Given the description of an element on the screen output the (x, y) to click on. 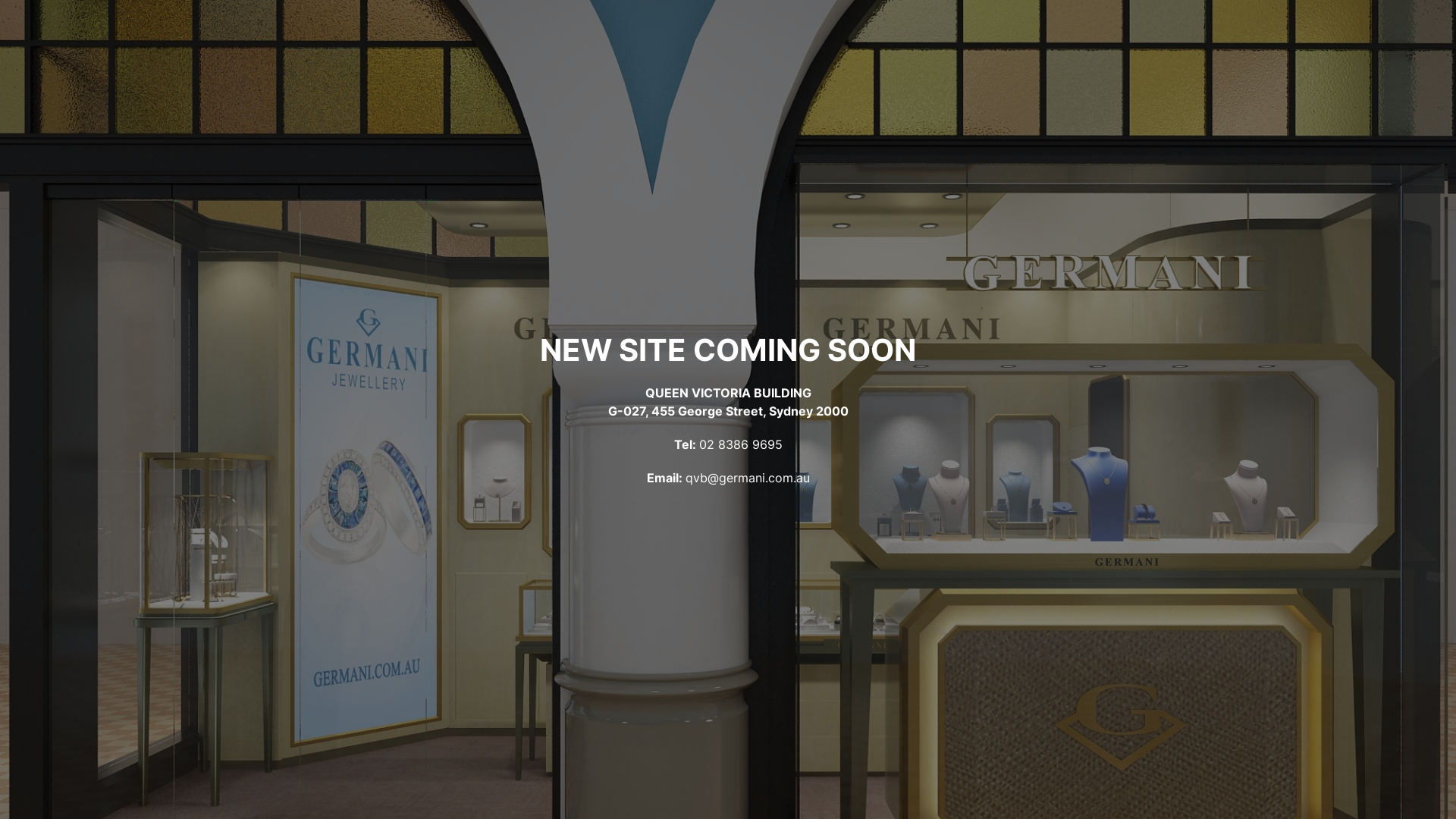
02 8386 9695 Element type: text (740, 443)
qvb@germani.com.au Element type: text (747, 477)
